Given the description of an element on the screen output the (x, y) to click on. 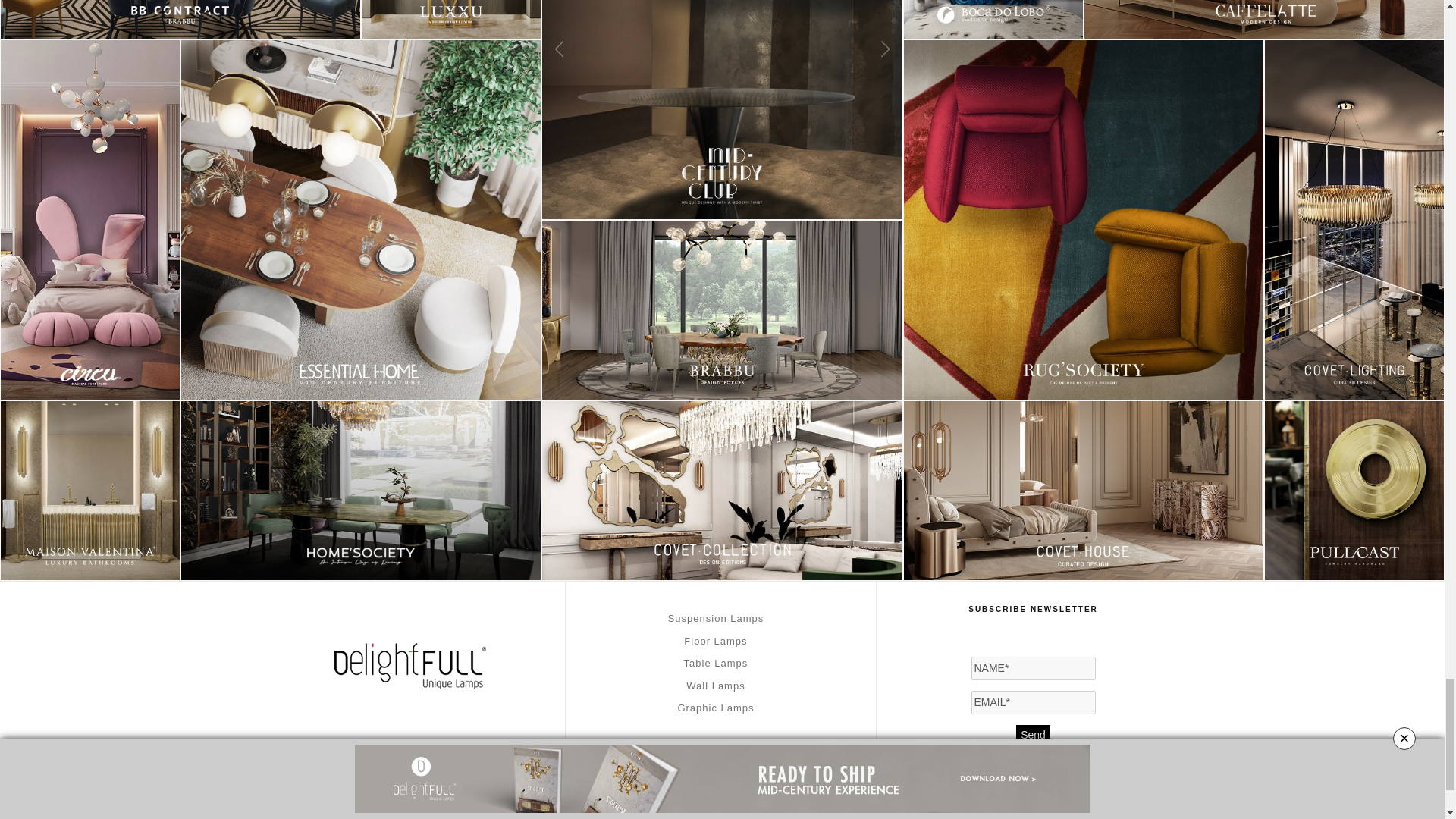
Send (1032, 734)
